Given the description of an element on the screen output the (x, y) to click on. 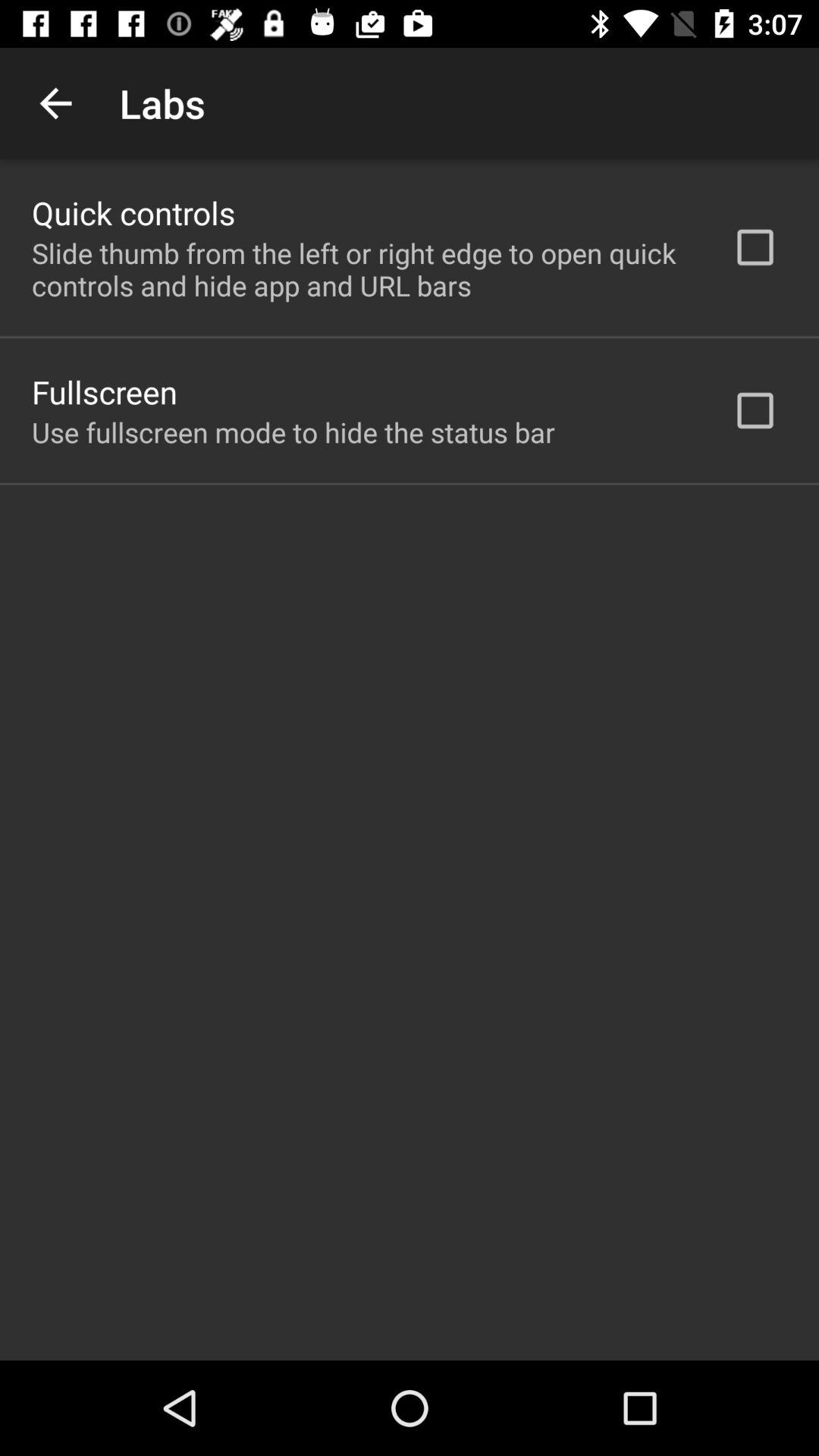
flip until the use fullscreen mode icon (293, 432)
